Given the description of an element on the screen output the (x, y) to click on. 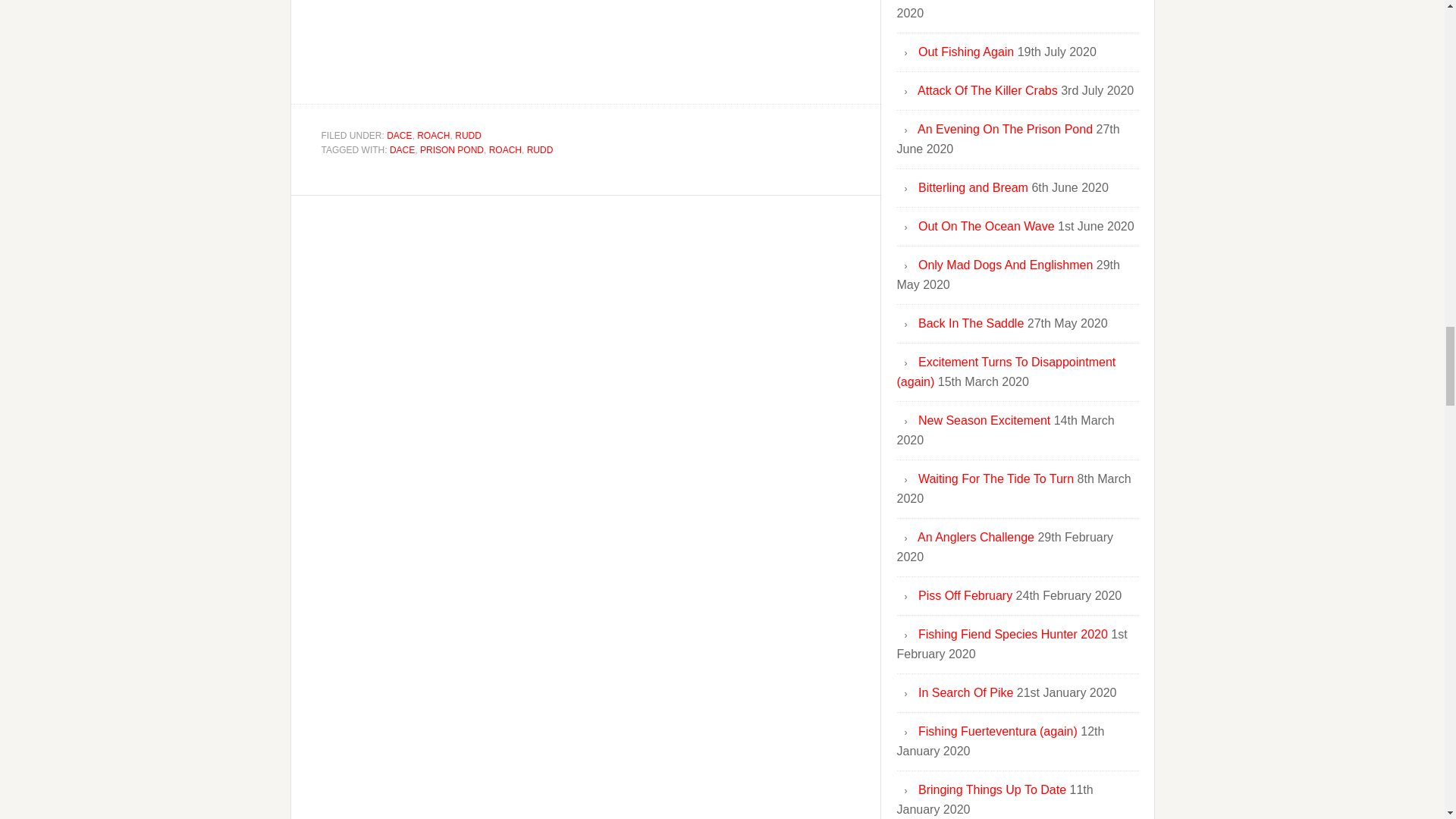
ROACH (432, 135)
RUDD (540, 149)
PRISON POND (451, 149)
DACE (399, 135)
ROACH (505, 149)
RUDD (467, 135)
DACE (402, 149)
